Given the description of an element on the screen output the (x, y) to click on. 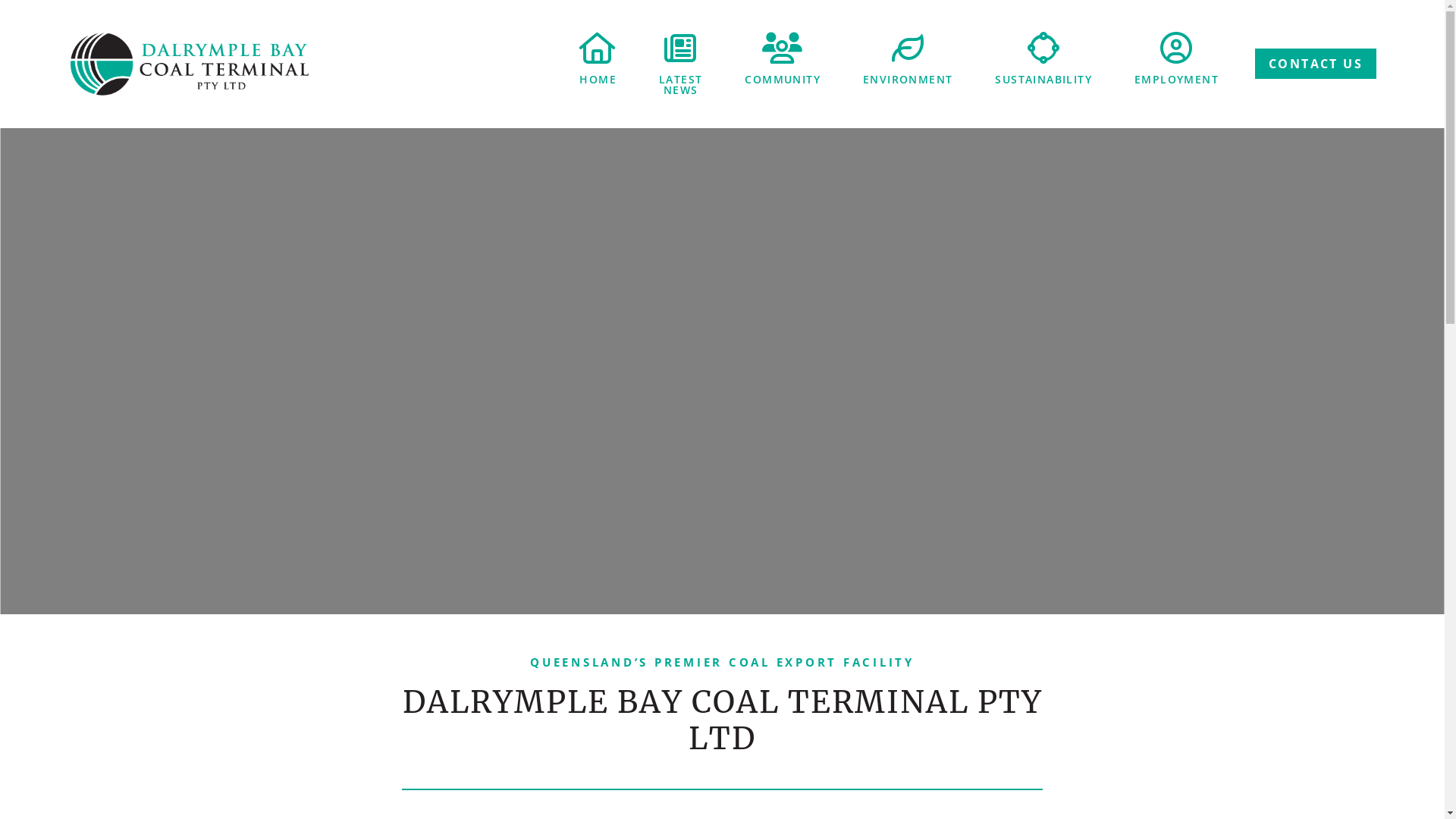
SUSTAINABILITY


SUSTAINABILITY Element type: text (1043, 58)
HOME


HOME Element type: text (597, 58)
Community Element type: hover (782, 47)
ENVIRONMENT


ENVIRONMENT Element type: text (907, 58)
COMMUNITY


COMMUNITY Element type: text (782, 58)
Latest News Element type: hover (680, 47)
Home Element type: hover (597, 47)
Environment Element type: hover (907, 47)
Sustainability Element type: hover (1042, 47)
EMPLOYMENT


EMPLOYMENT Element type: text (1176, 67)
Employment Element type: hover (1176, 47)
CONTACT US Element type: text (1315, 63)
LATEST NEWS


LATEST
NEWS Element type: text (680, 63)
